Given the description of an element on the screen output the (x, y) to click on. 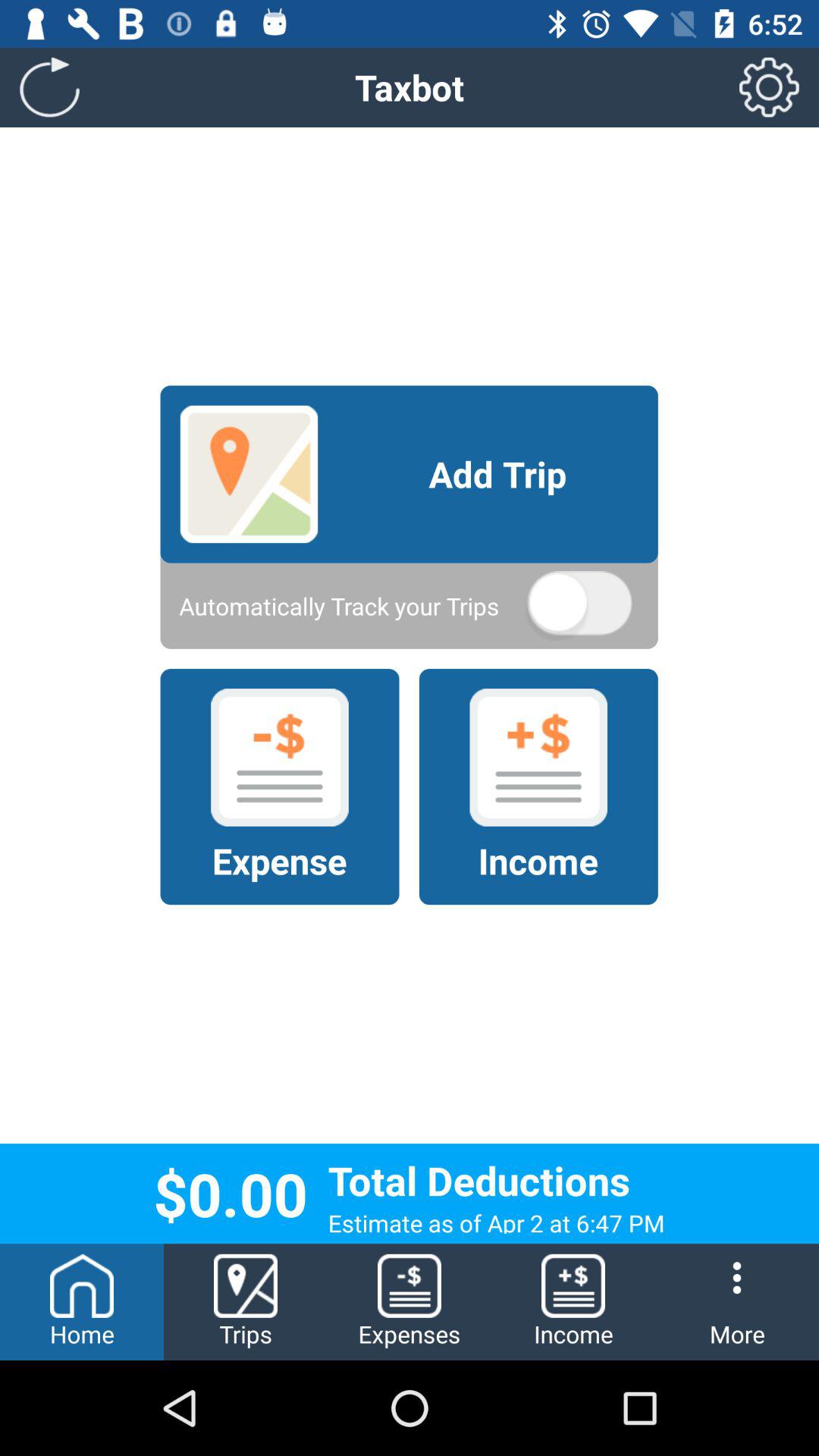
turn off item at the top right corner (769, 87)
